Given the description of an element on the screen output the (x, y) to click on. 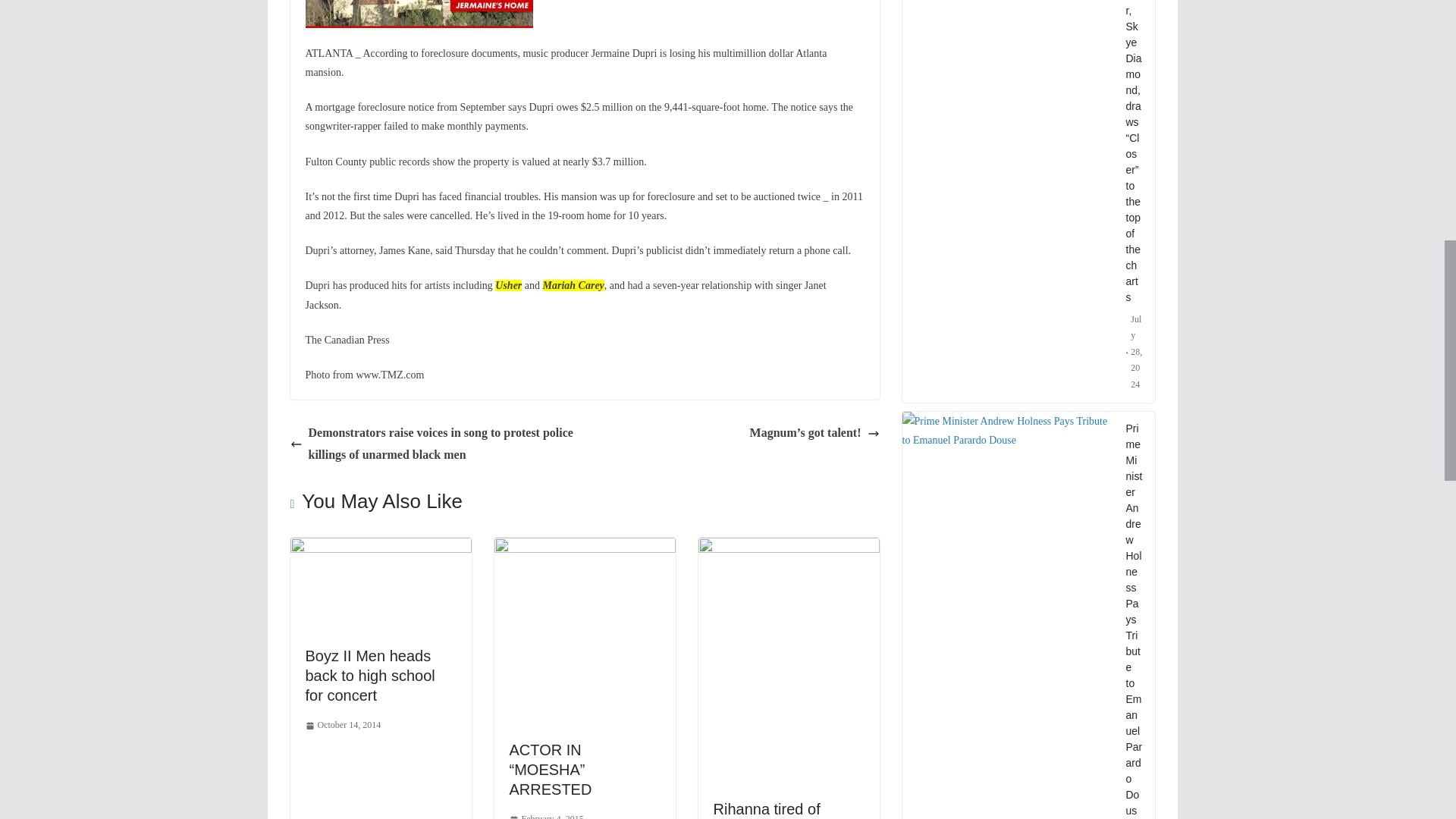
12:39 pm (342, 725)
February 4, 2015 (546, 815)
Boyz II Men heads back to high school for concert (368, 675)
October 14, 2014 (342, 725)
Boyz II Men heads back to high school for concert (368, 675)
Rihanna tired of partying (766, 809)
Rihanna tired of partying (788, 547)
7:52 am (546, 815)
Boyz II Men heads back to high school for concert (379, 547)
